Given the description of an element on the screen output the (x, y) to click on. 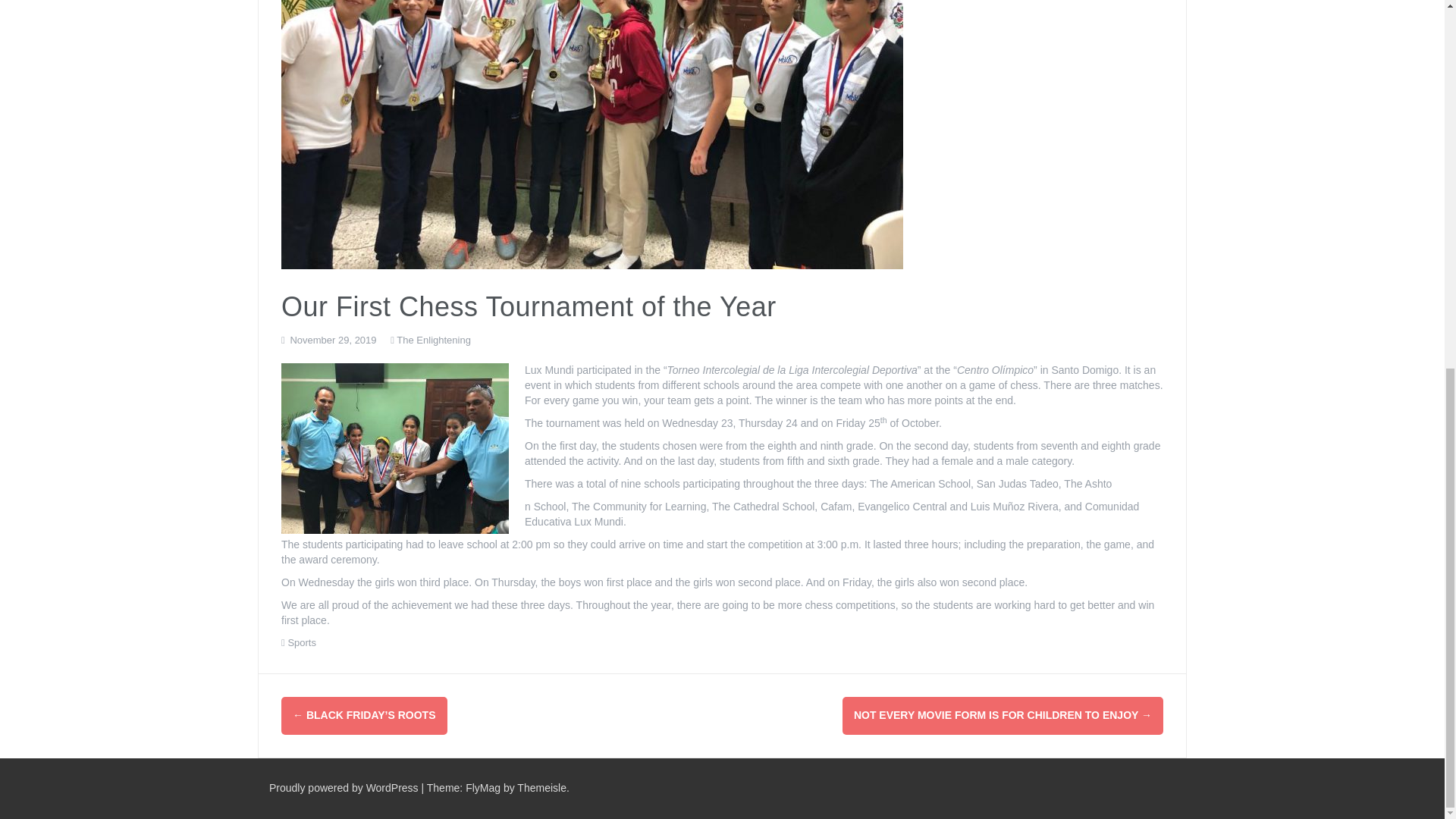
The Enlightening (433, 339)
November 29, 2019 (332, 339)
